Given the description of an element on the screen output the (x, y) to click on. 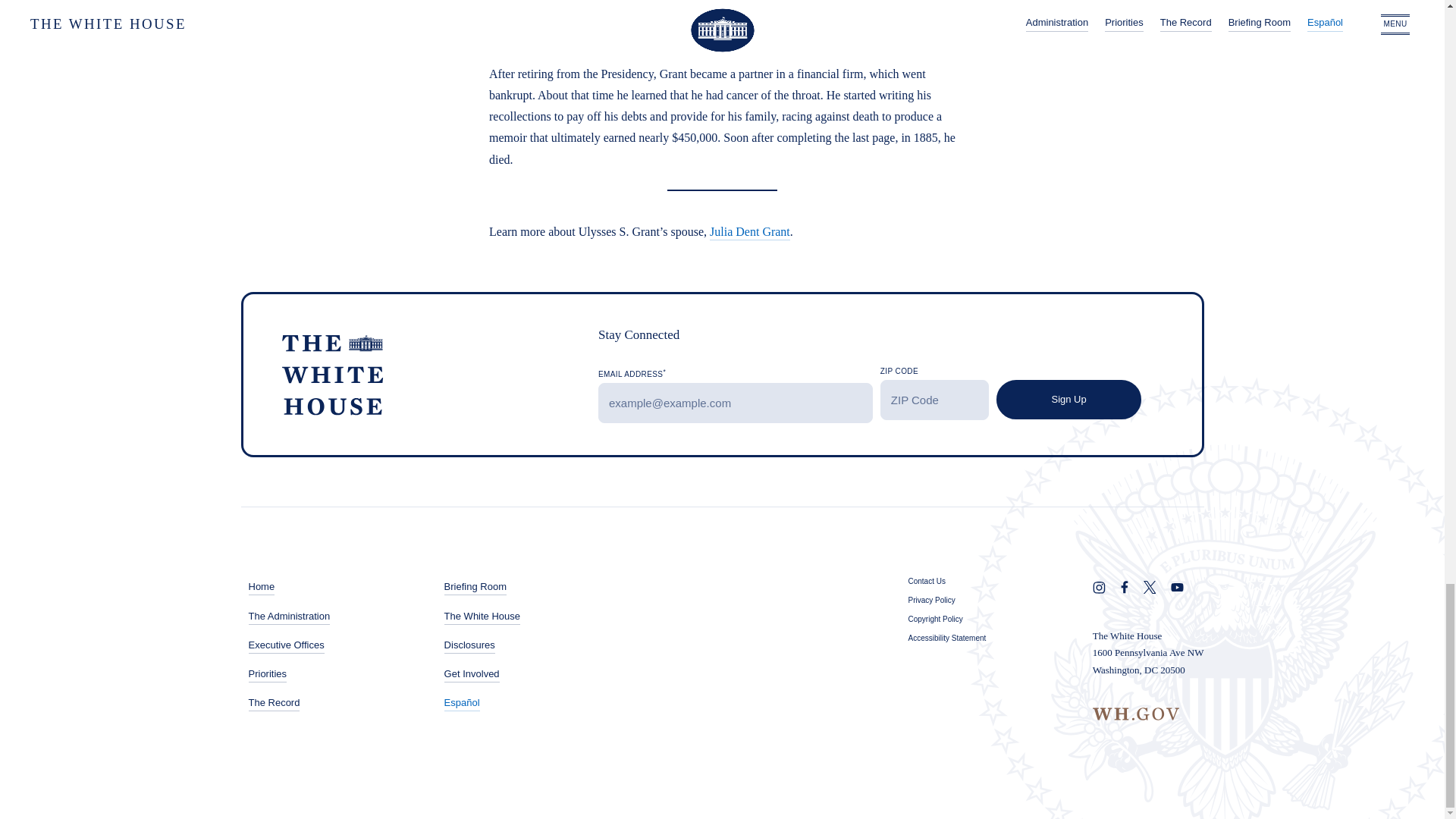
Sign Up (1068, 400)
